Given the description of an element on the screen output the (x, y) to click on. 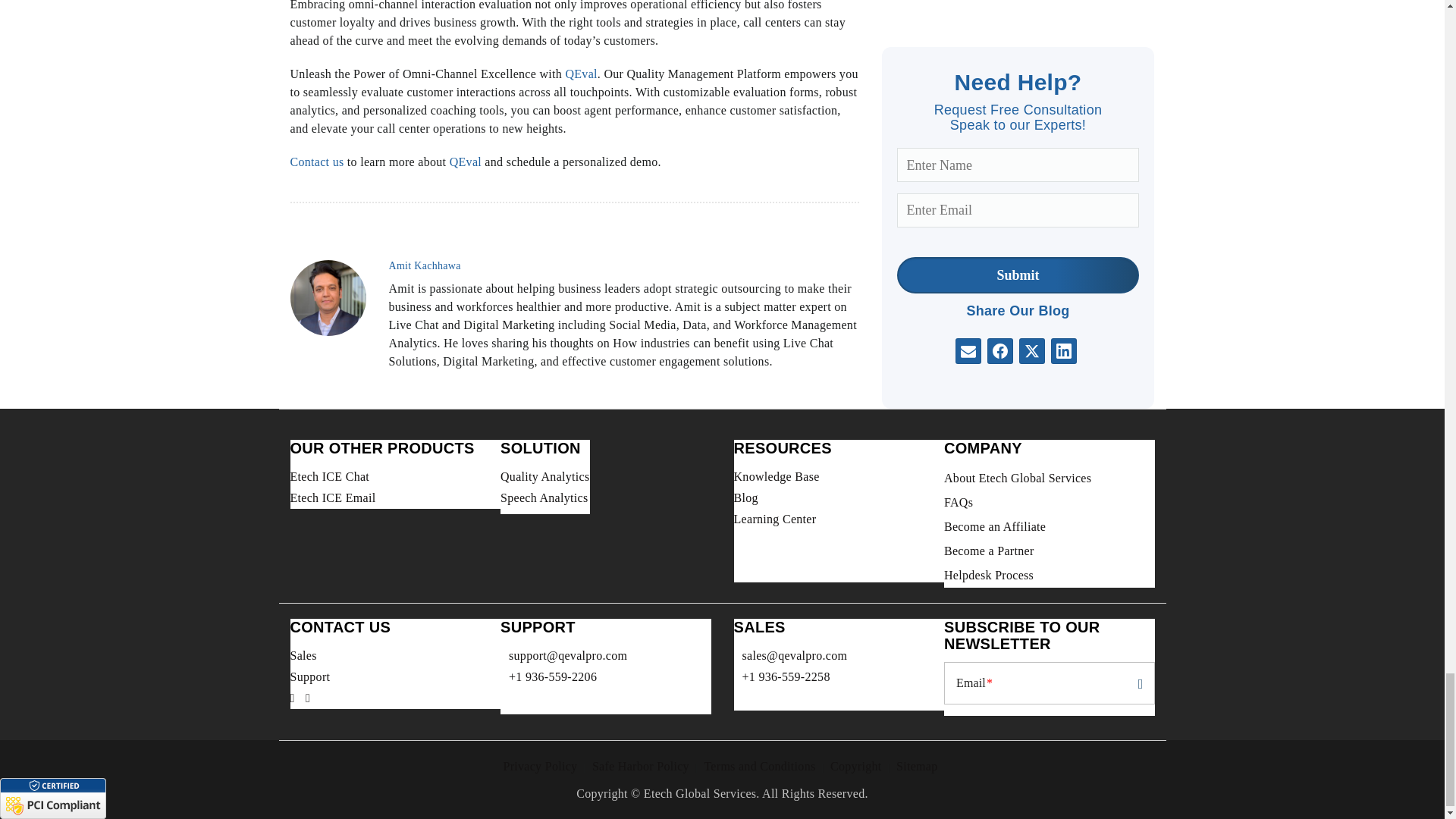
Send (1135, 682)
